Given the description of an element on the screen output the (x, y) to click on. 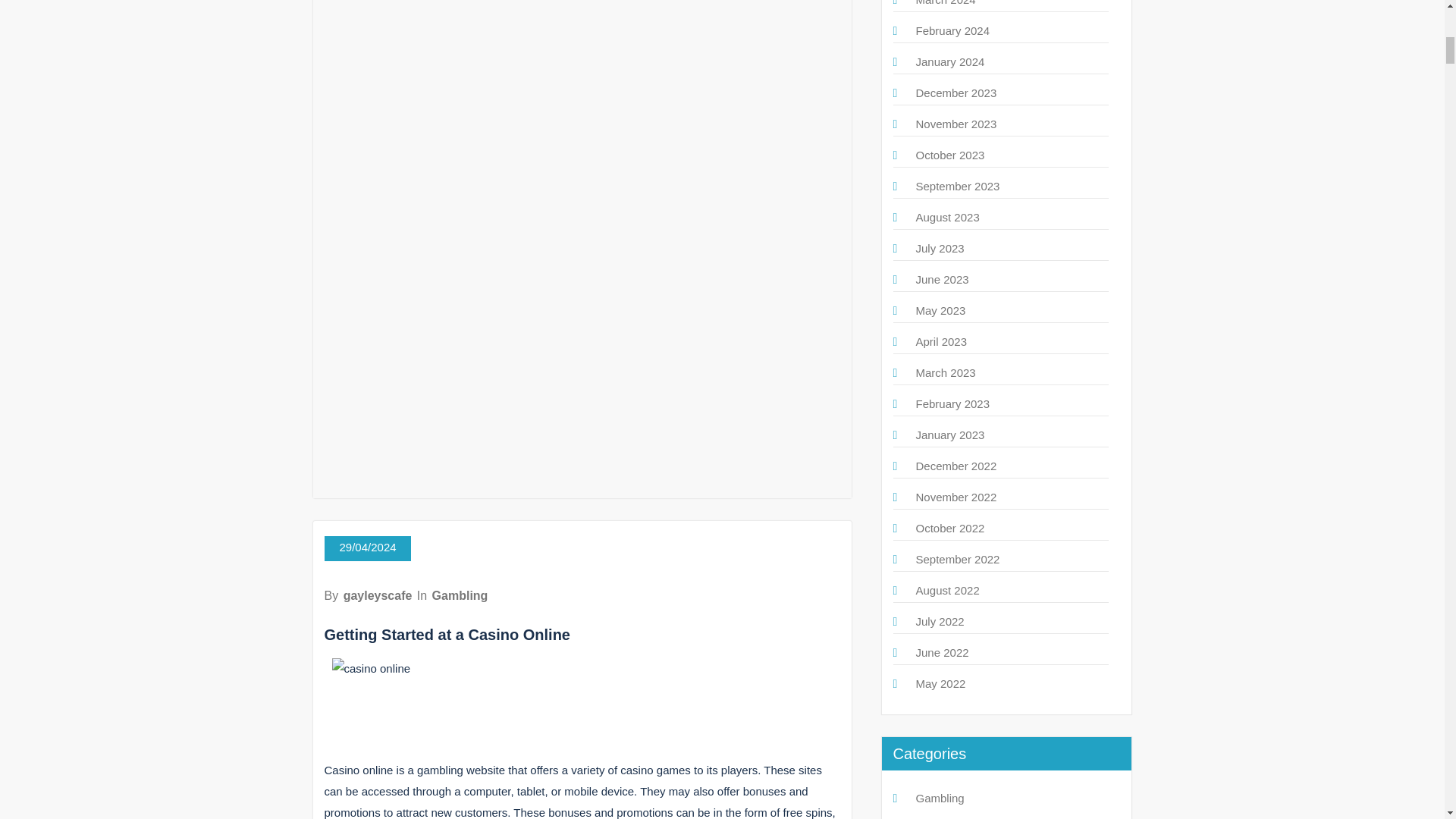
gayleyscafe (377, 594)
Getting Started at a Casino Online (447, 634)
Gambling (459, 594)
